Given the description of an element on the screen output the (x, y) to click on. 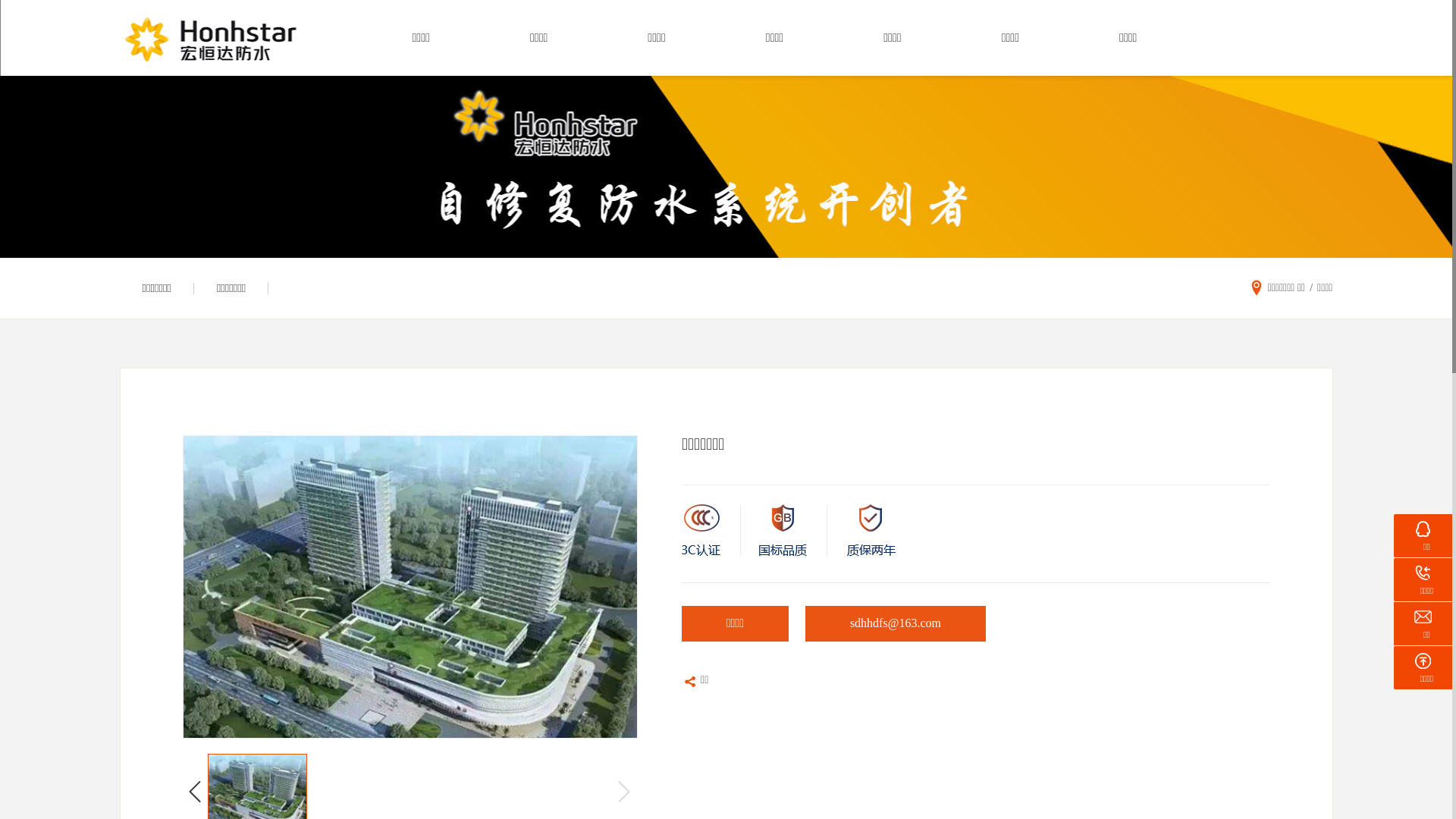
sdhhdfs@163.com Element type: text (895, 626)
